Given the description of an element on the screen output the (x, y) to click on. 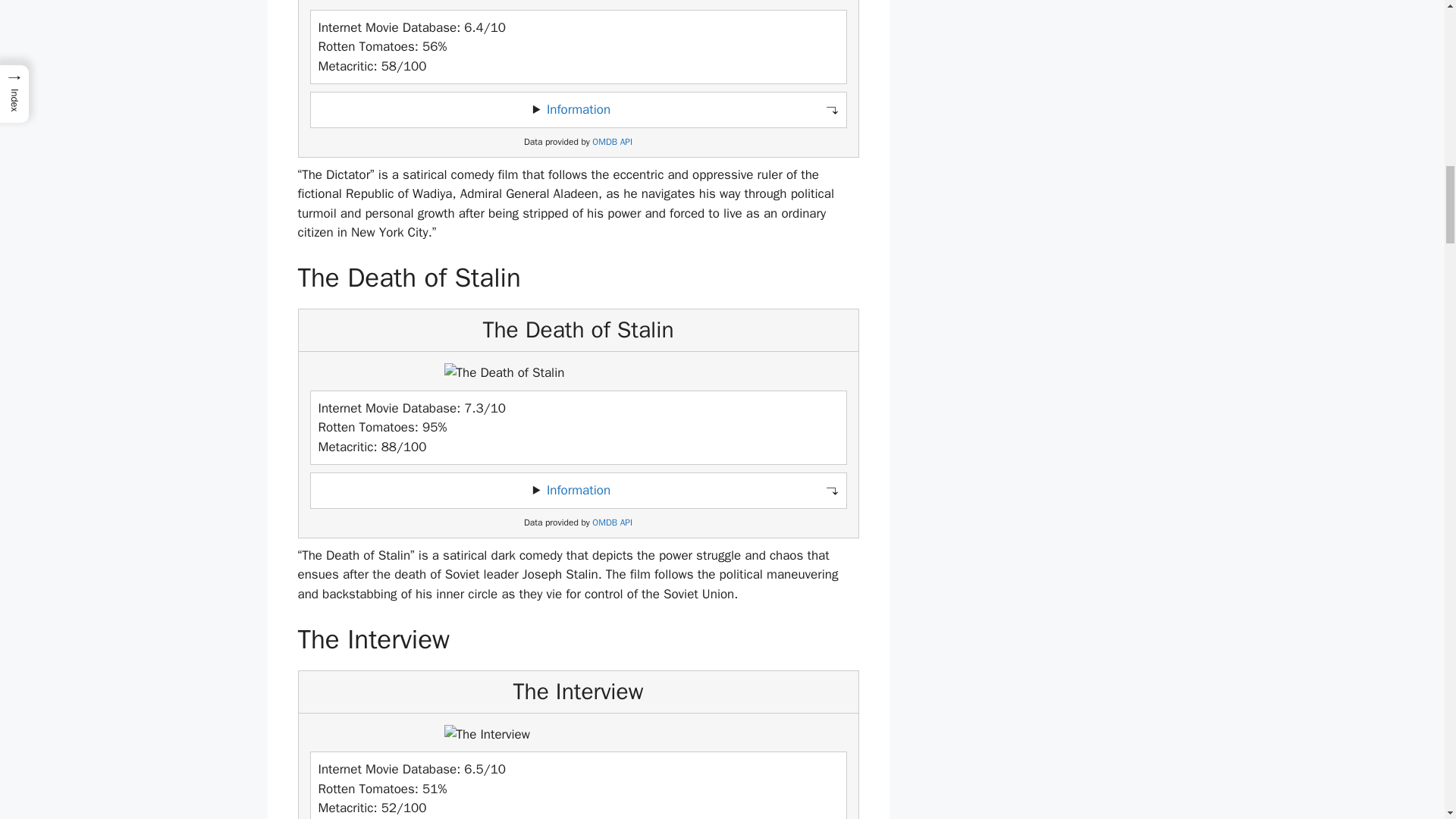
Toggle information (578, 490)
Toggle information (578, 109)
Information (578, 489)
OMDB API (611, 142)
OMDB API (611, 522)
Open Movie Database API (611, 142)
Open Movie Database API (611, 522)
Information (578, 109)
